Given the description of an element on the screen output the (x, y) to click on. 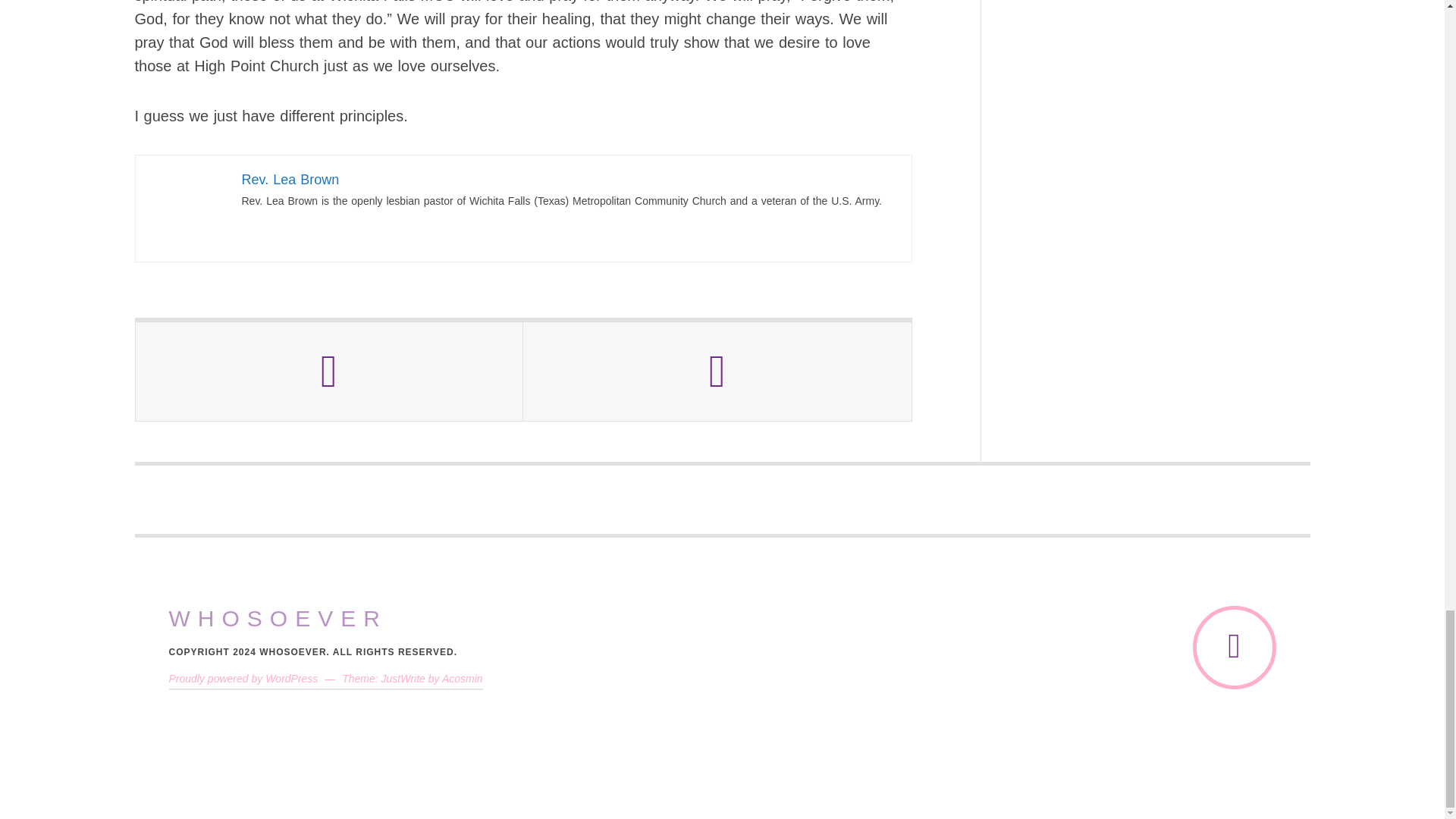
Rev. Lea Brown (290, 179)
Whosoever (277, 618)
Next Post (716, 371)
Proudly powered by WordPress (242, 678)
WHOSOEVER (277, 618)
Acosmin (462, 678)
Acosmin (462, 678)
Previous Post (328, 371)
